Given the description of an element on the screen output the (x, y) to click on. 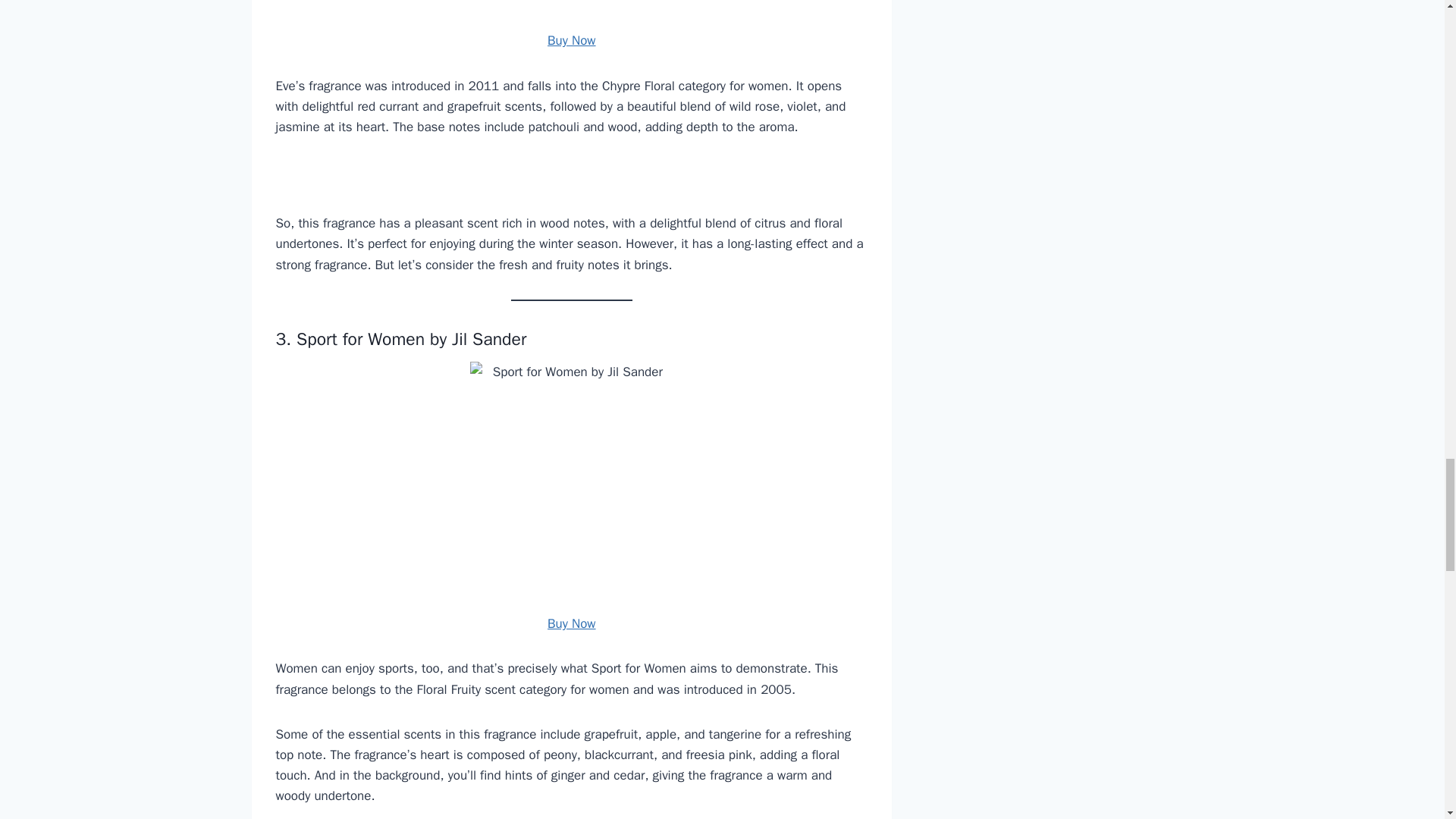
Buy Now (571, 623)
Buy Now (571, 40)
